Given the description of an element on the screen output the (x, y) to click on. 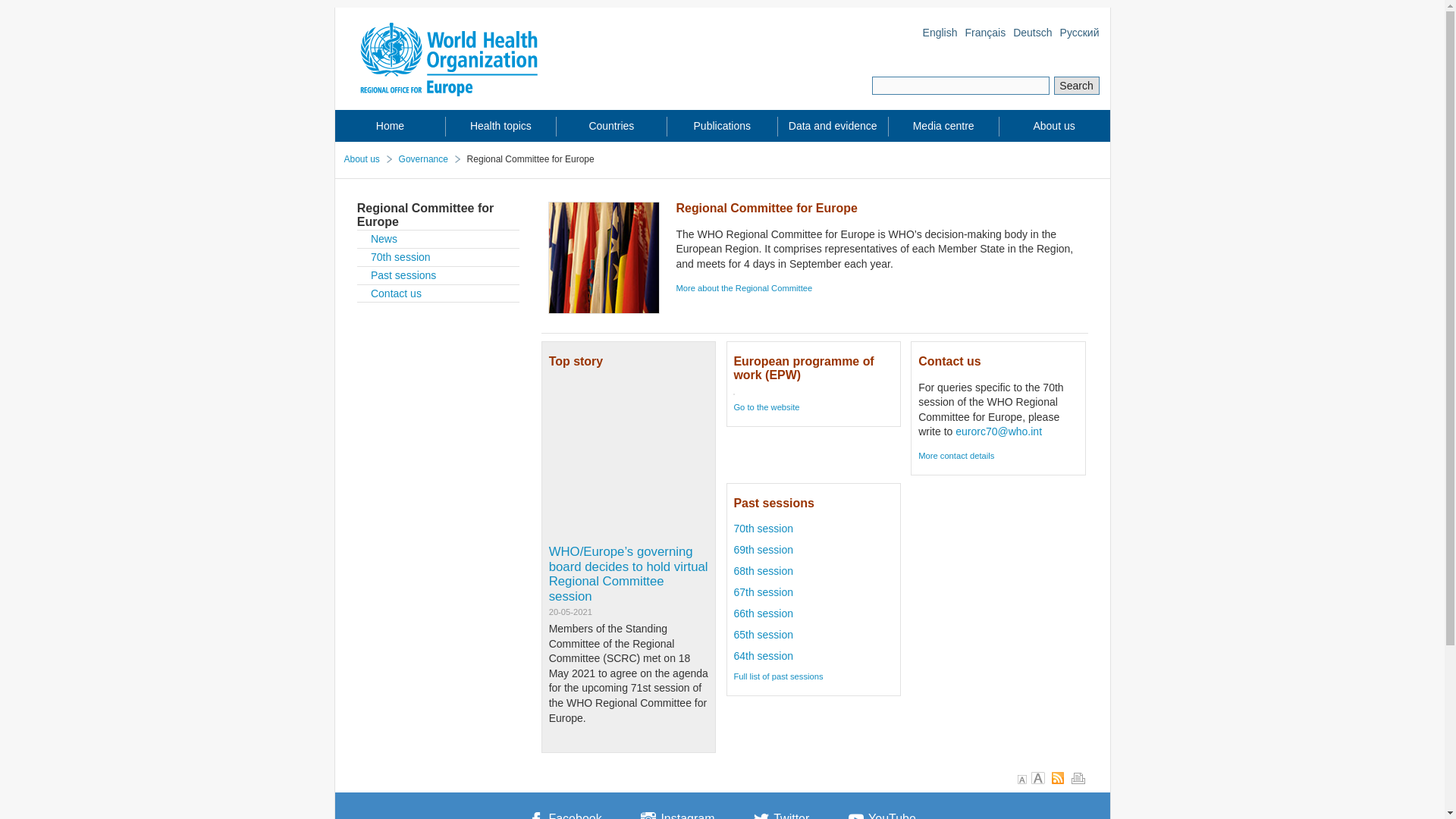
Media centre (943, 126)
Search (1076, 85)
Search (1076, 85)
Publications (721, 126)
English (940, 32)
Health topics (500, 126)
About us (1053, 126)
Deutsch (1032, 32)
Data and evidence (832, 126)
